Given the description of an element on the screen output the (x, y) to click on. 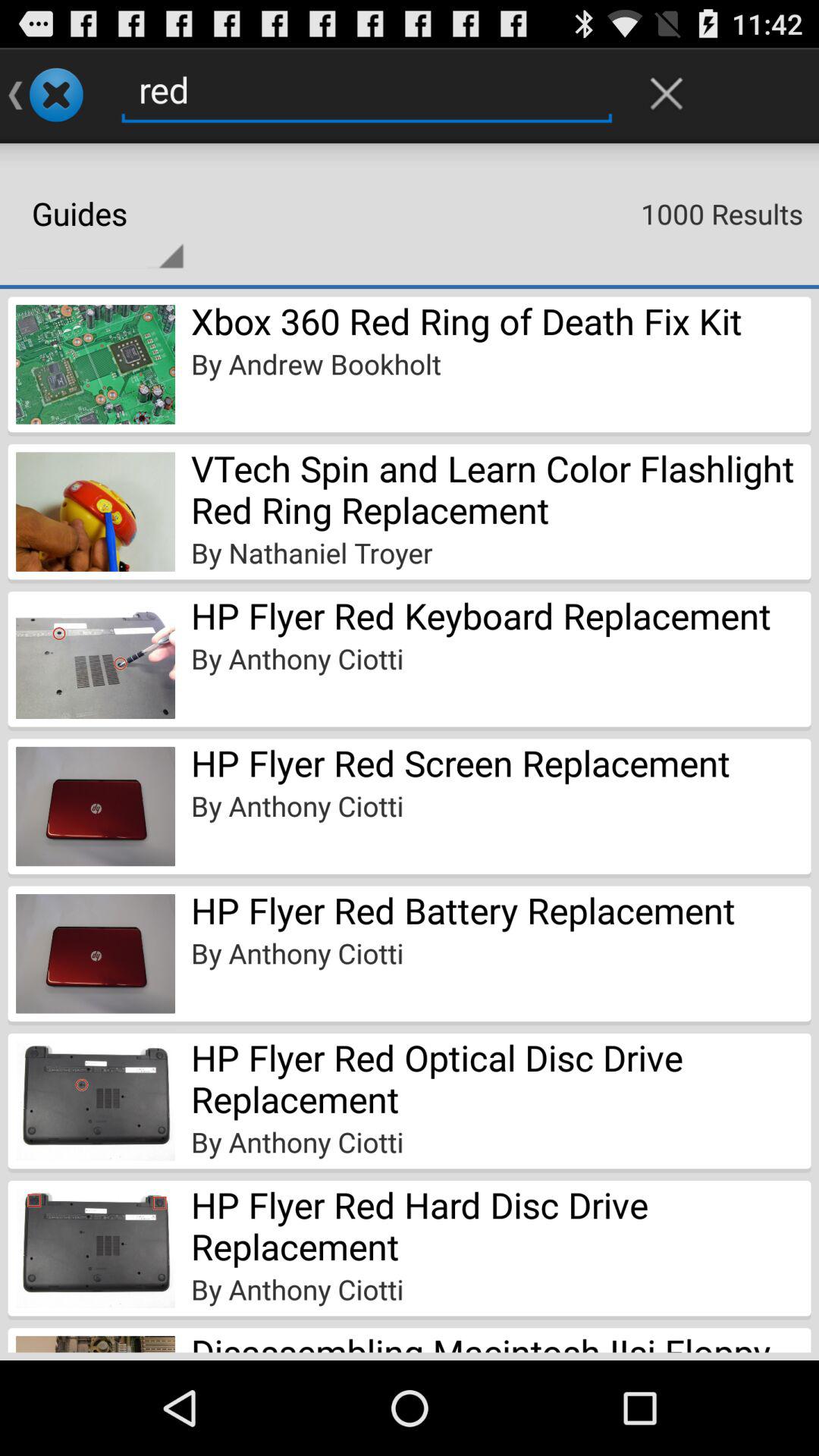
open the app below the vtech spin and app (311, 552)
